Given the description of an element on the screen output the (x, y) to click on. 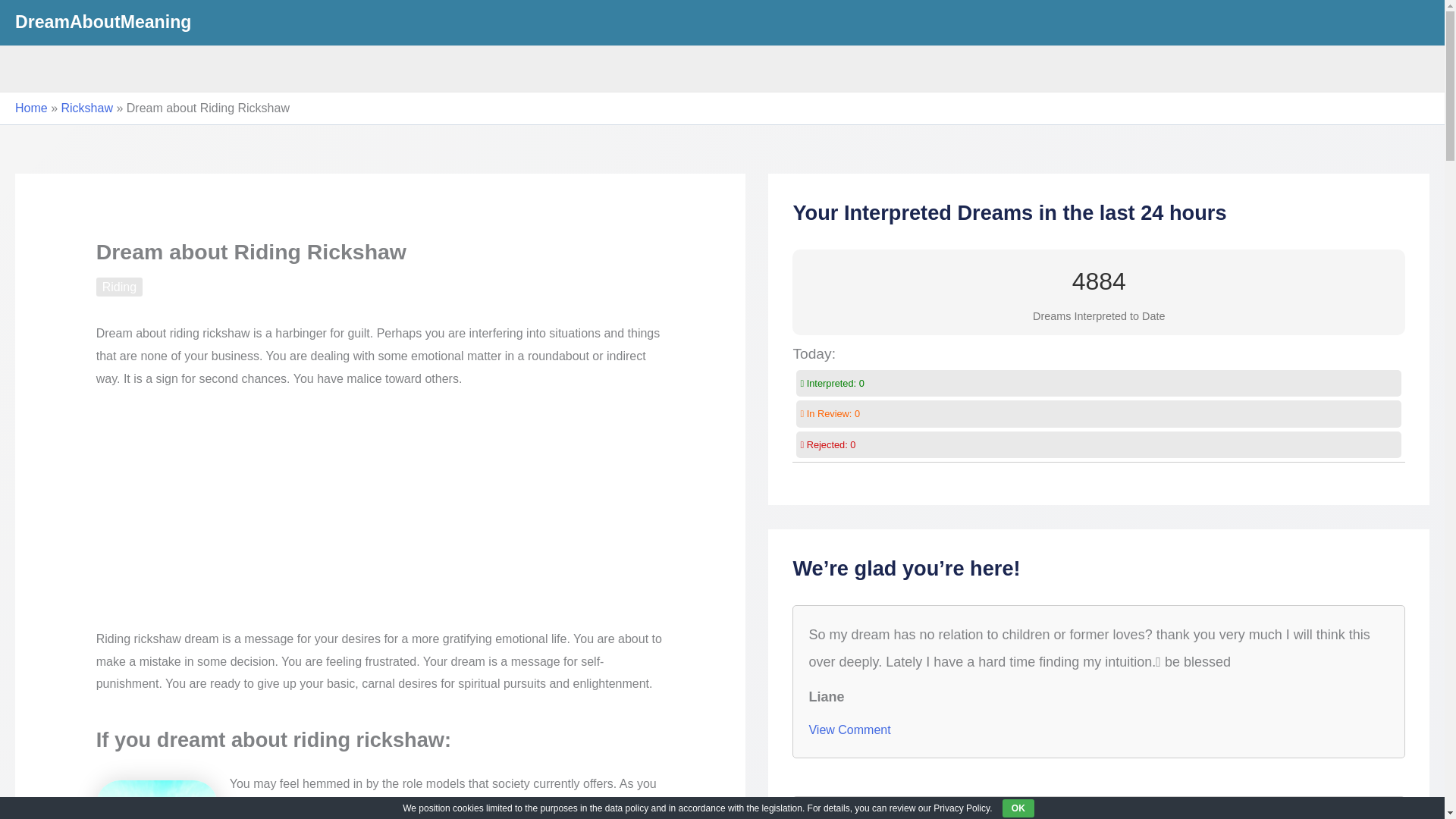
Advertisement (380, 515)
Home (31, 107)
Rickshaw (86, 107)
Riding (119, 286)
View Comment (848, 730)
DreamAboutMeaning (102, 21)
